Given the description of an element on the screen output the (x, y) to click on. 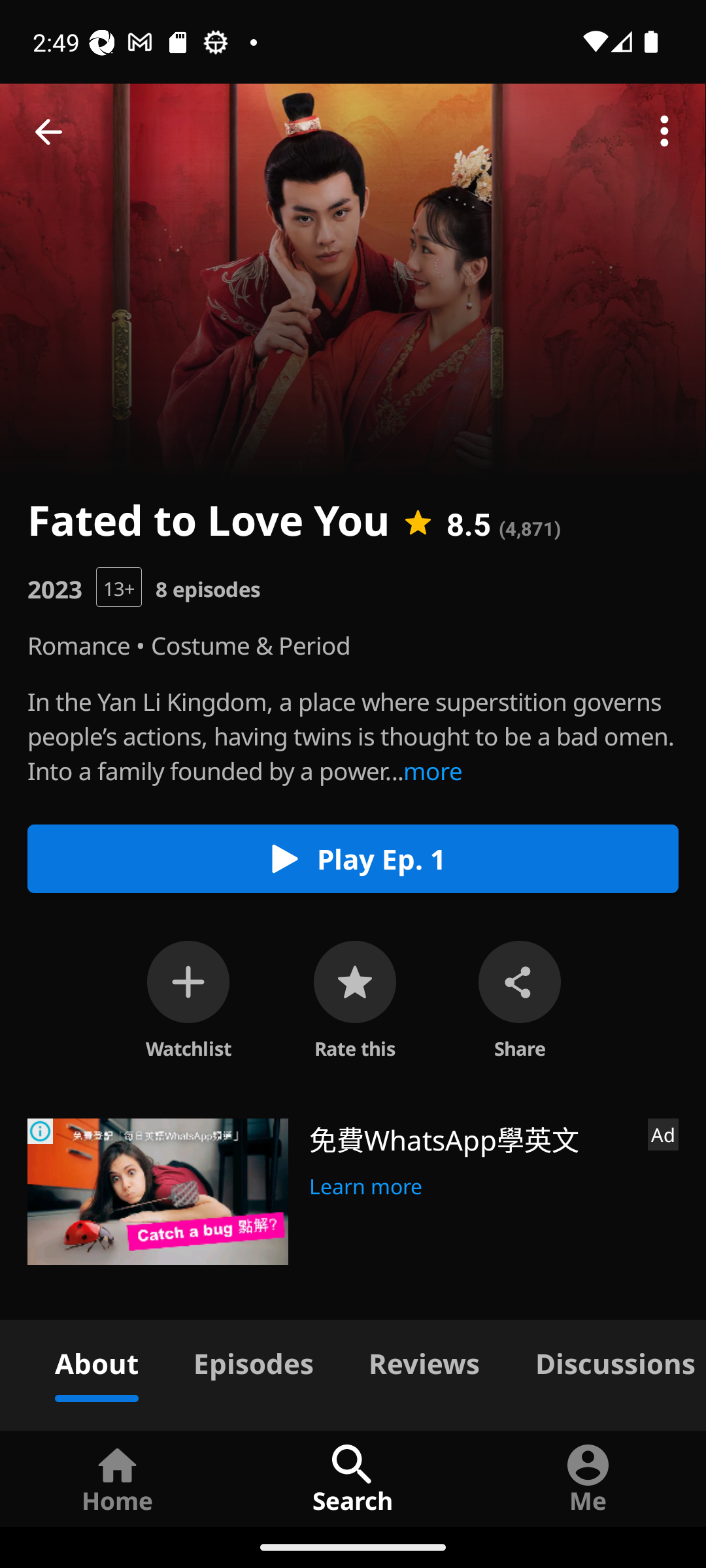
More (664, 131)
off (187, 981)
免費WhatsApp學英文 Ad Learn more Ad Choices Icon (352, 1191)
Ad Choices Icon (39, 1130)
免費WhatsApp學英文 (471, 1137)
Learn more (365, 1183)
Episodes (252, 1360)
Reviews (423, 1360)
Discussions (606, 1360)
Home (117, 1478)
Me (588, 1478)
